Given the description of an element on the screen output the (x, y) to click on. 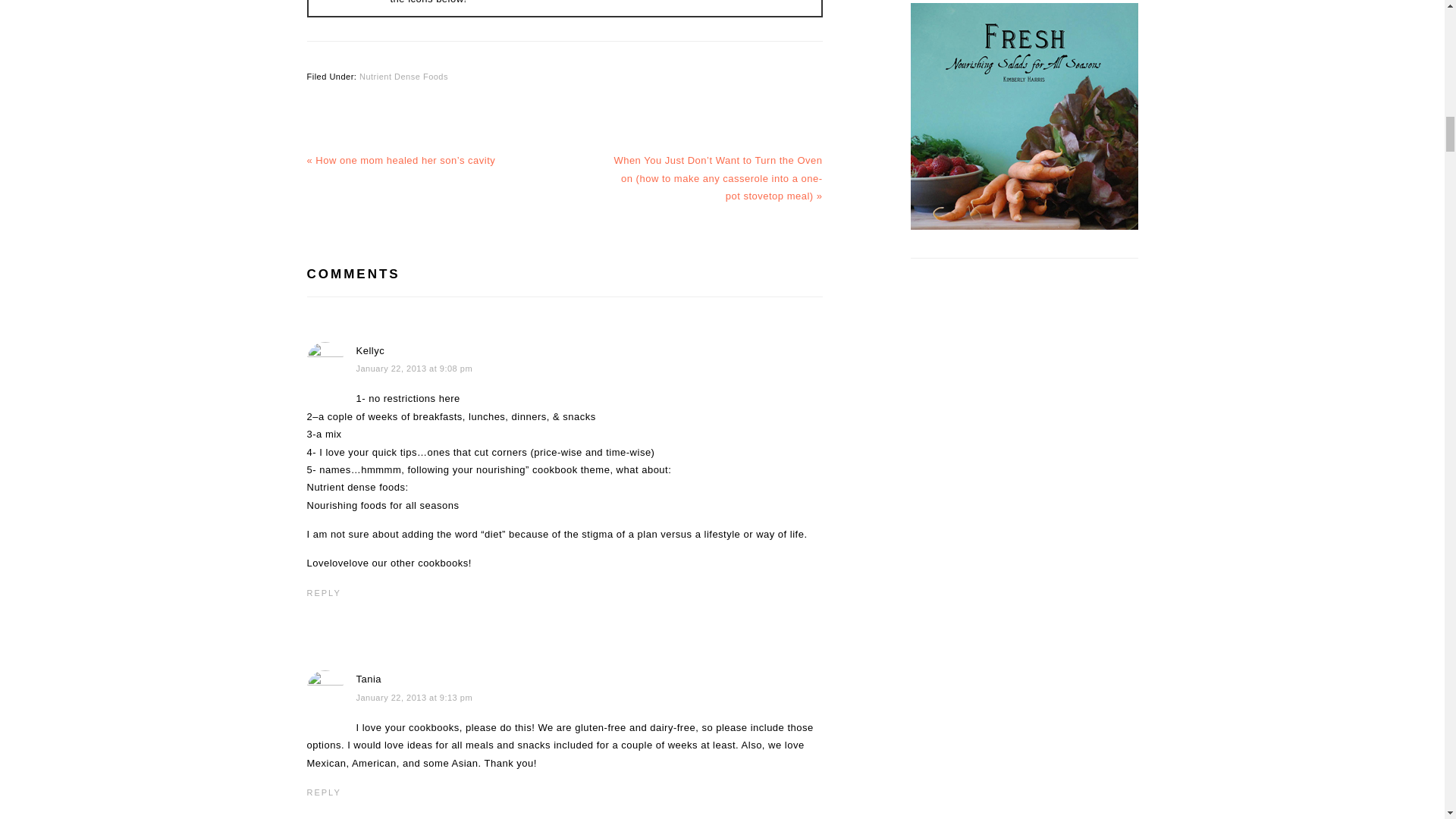
January 22, 2013 at 9:08 pm (414, 368)
REPLY (322, 791)
REPLY (322, 592)
Fresh Cover (1023, 116)
January 22, 2013 at 9:13 pm (414, 696)
Nutrient Dense Foods (403, 75)
